Given the description of an element on the screen output the (x, y) to click on. 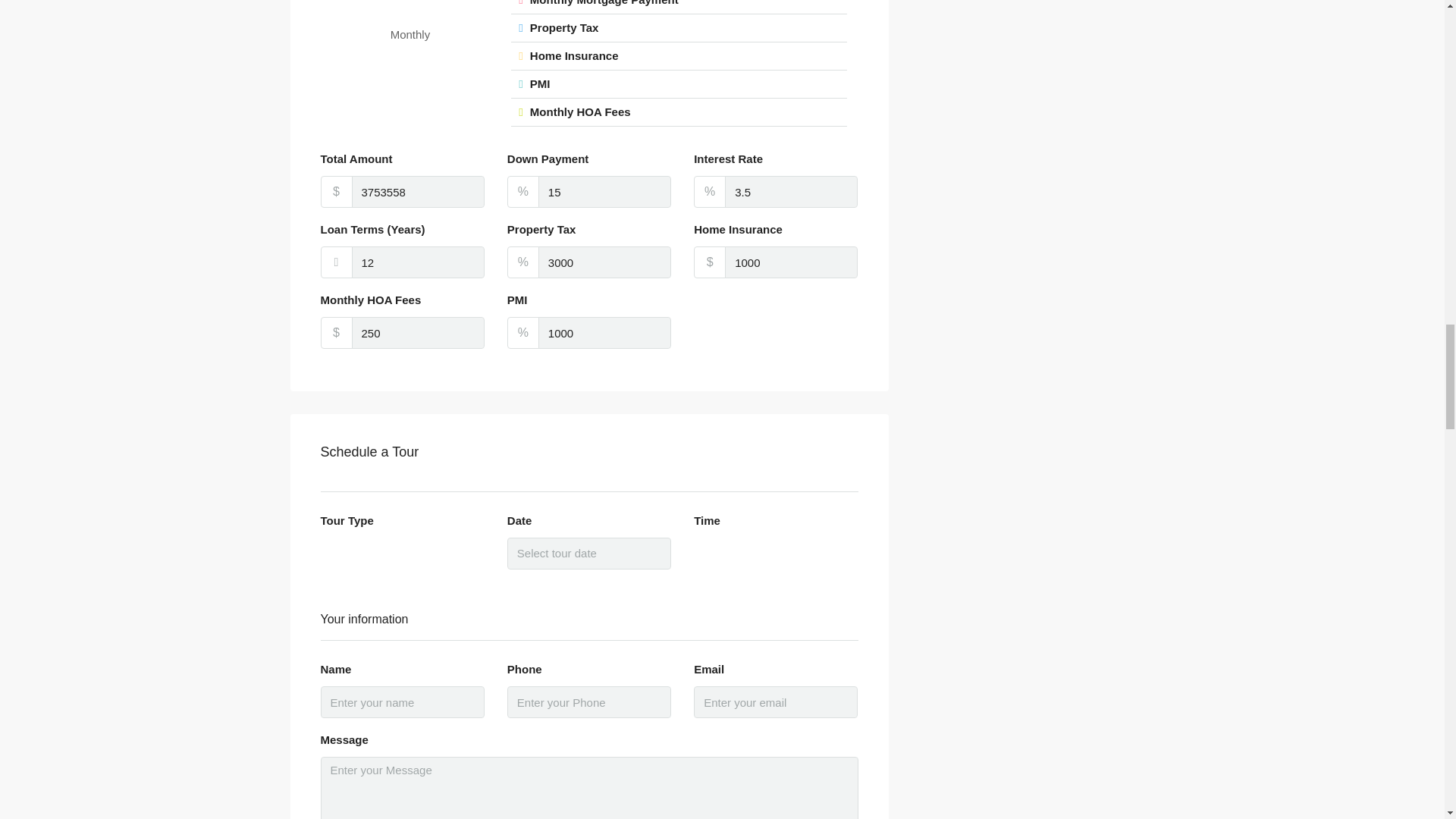
3753558 (418, 192)
250 (418, 332)
12 (418, 262)
15 (604, 192)
3000 (604, 262)
1000 (791, 262)
1000 (604, 332)
3.5 (791, 192)
